Given the description of an element on the screen output the (x, y) to click on. 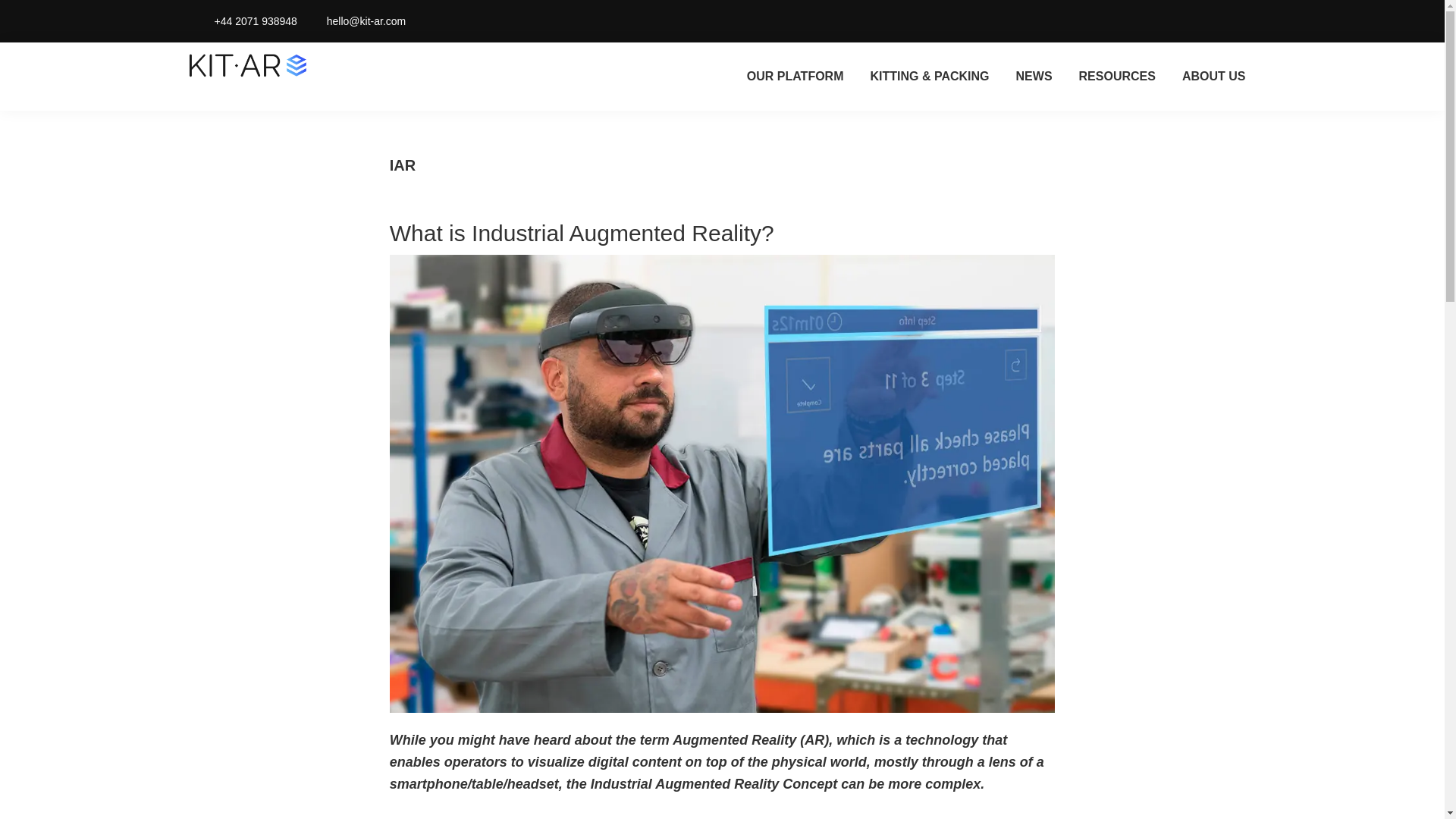
OUR PLATFORM (795, 76)
RESOURCES (1117, 76)
What is Industrial Augmented Reality? (582, 232)
Phone (200, 21)
Email (312, 21)
ABOUT US (1213, 76)
NEWS (1034, 76)
